Given the description of an element on the screen output the (x, y) to click on. 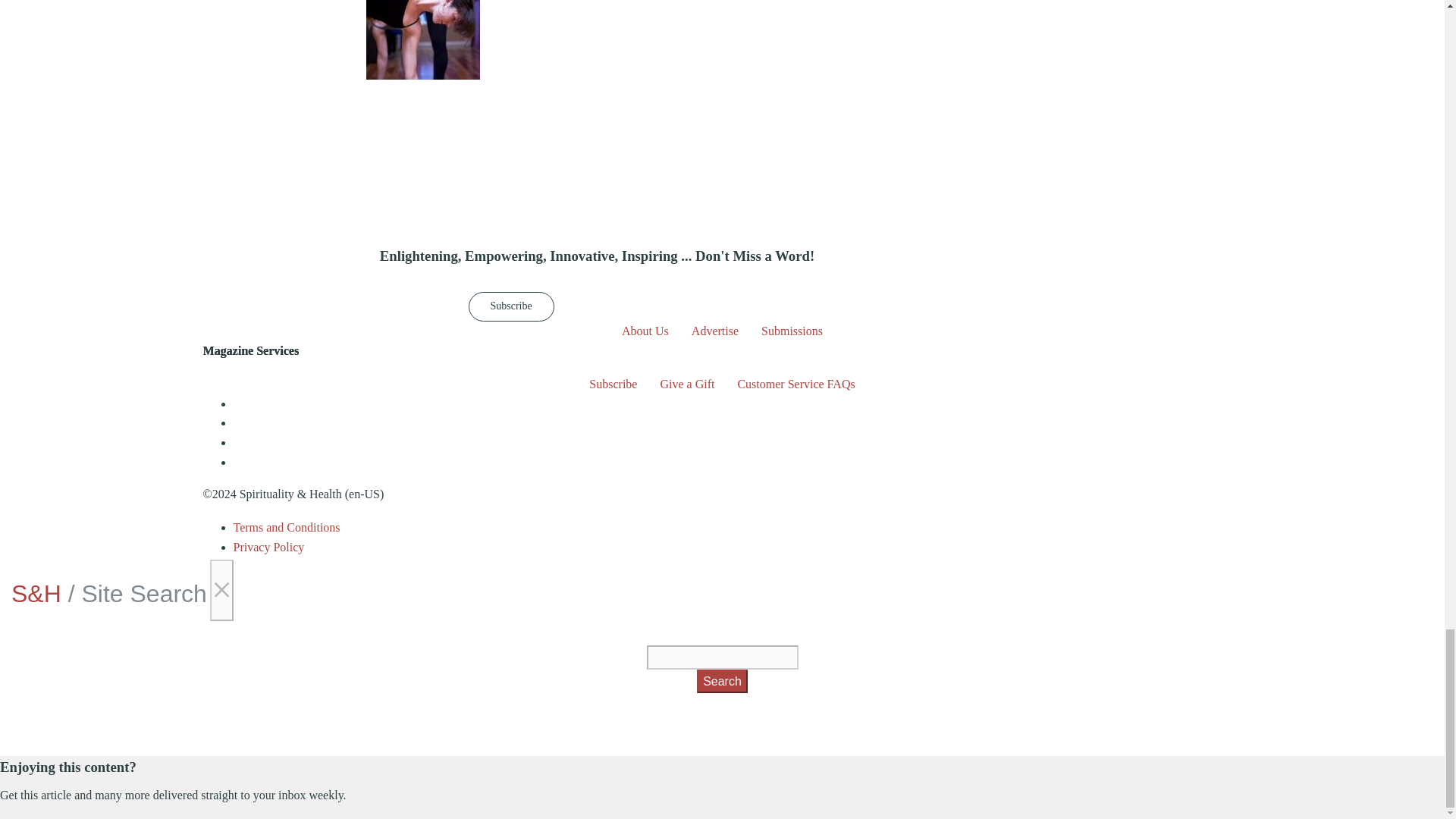
Search (722, 681)
